Given the description of an element on the screen output the (x, y) to click on. 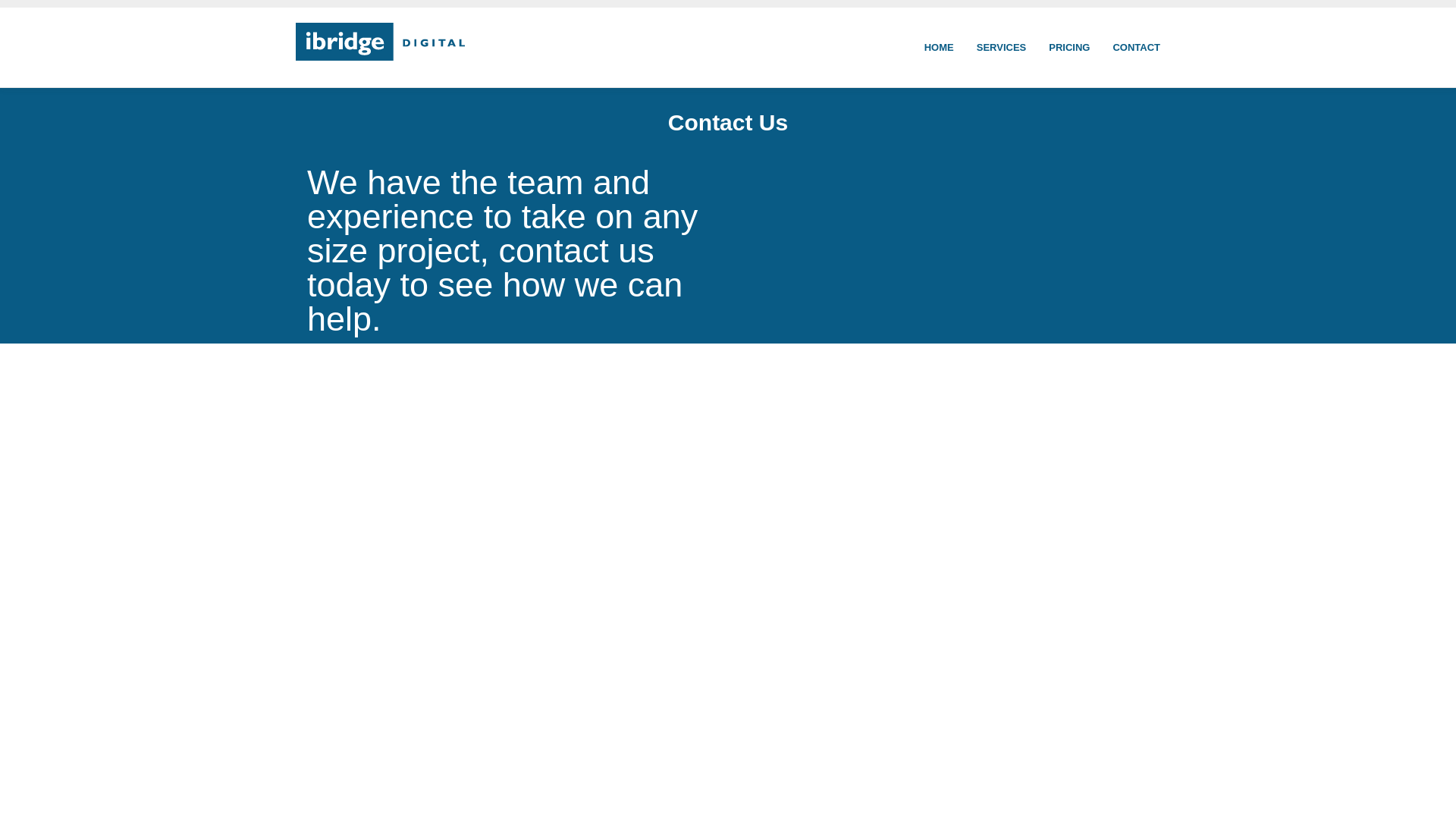
CONTACT (1136, 47)
PRICING (1068, 47)
HOME (938, 47)
SERVICES (1001, 47)
